Given the description of an element on the screen output the (x, y) to click on. 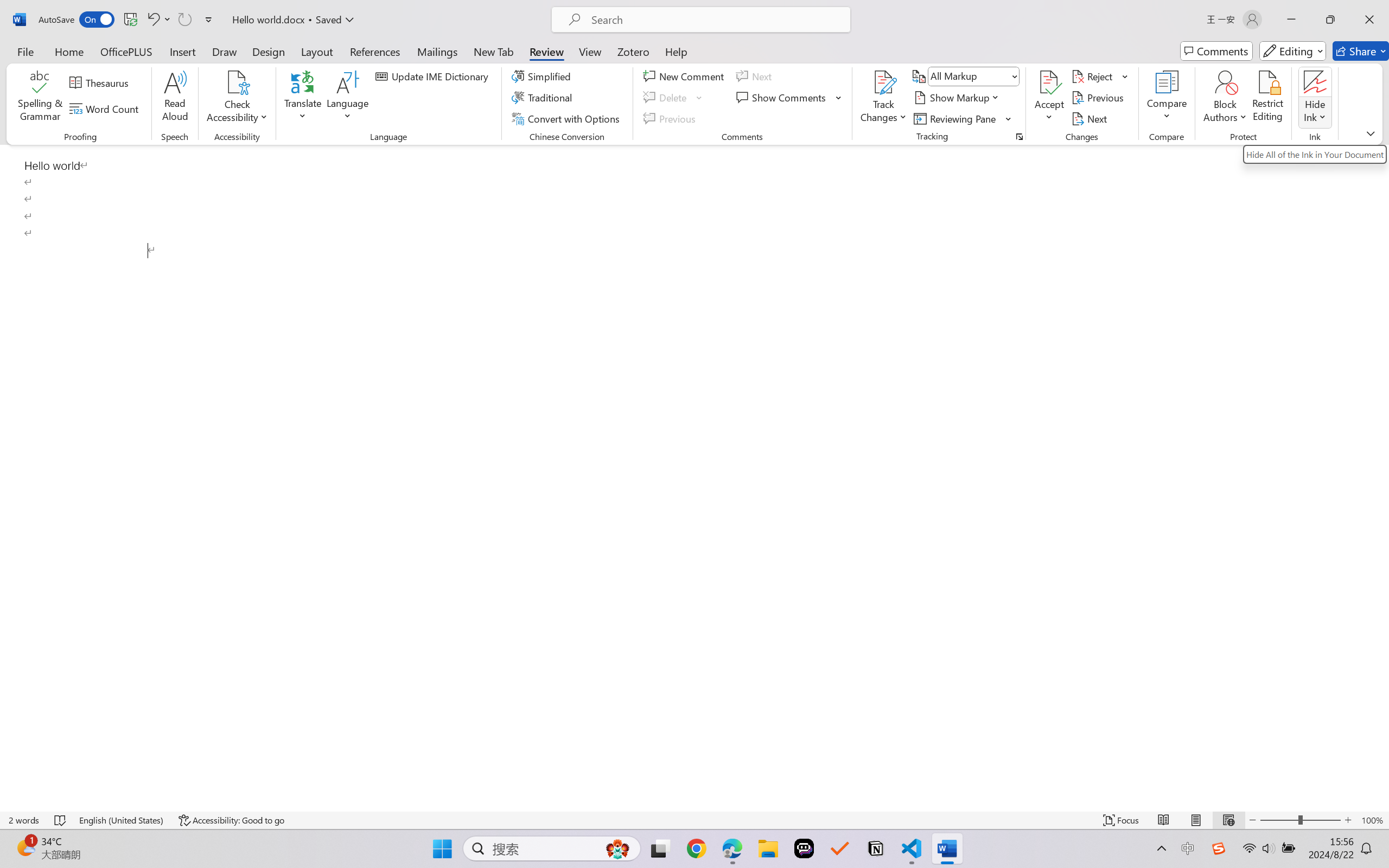
Share (1360, 51)
Convert with Options... (567, 118)
